Given the description of an element on the screen output the (x, y) to click on. 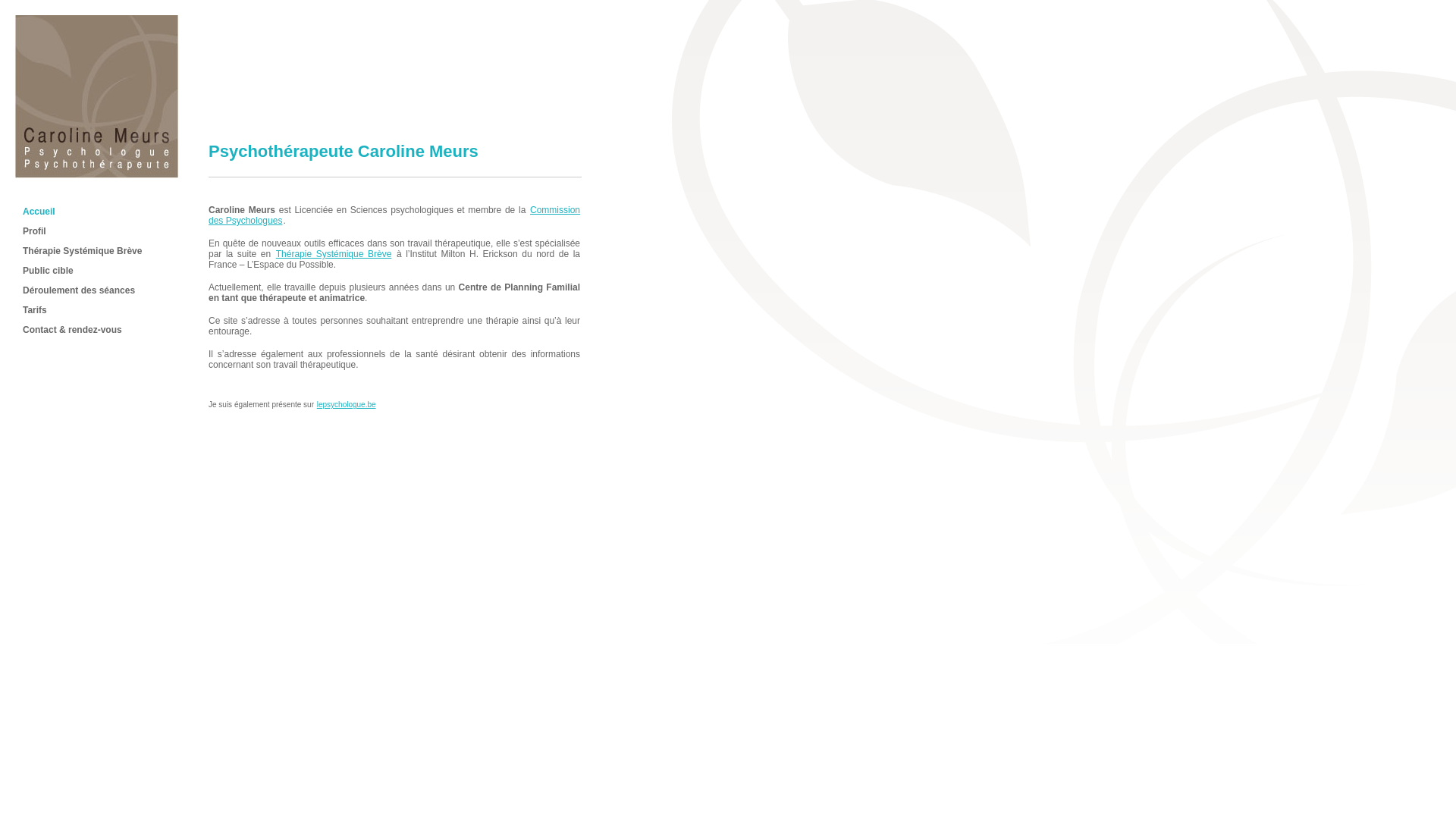
Contact & rendez-vous Element type: text (72, 329)
Tarifs Element type: text (34, 309)
Accueil Element type: text (38, 211)
Profil Element type: text (34, 230)
Commission des Psychologues Element type: text (394, 214)
Accueil Element type: hover (96, 174)
Public cible Element type: text (47, 270)
lepsychologue.be Element type: text (346, 404)
